Given the description of an element on the screen output the (x, y) to click on. 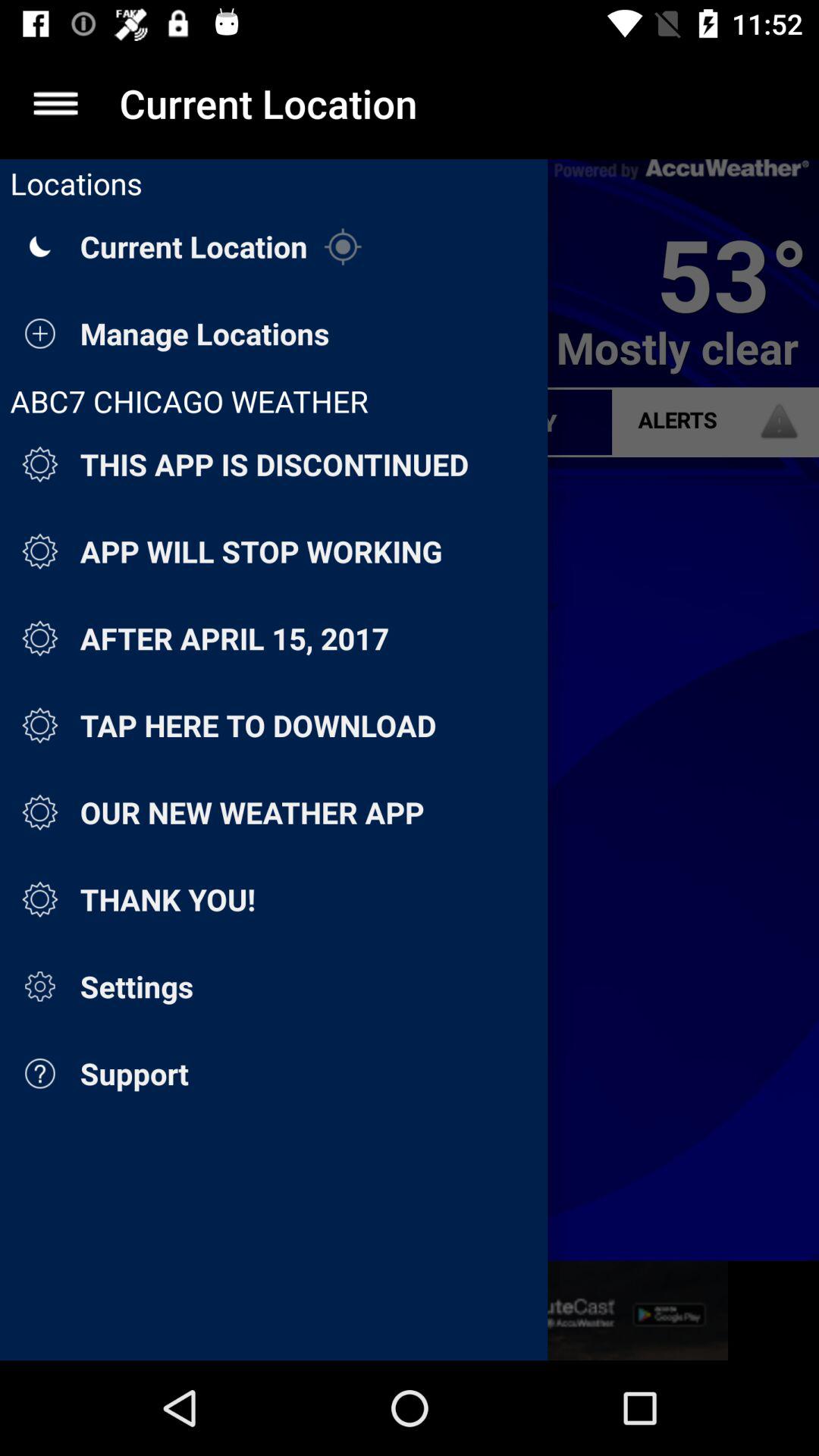
select the icon beside the current location (342, 247)
select a text powered by accuweather on a page (681, 169)
